Given the description of an element on the screen output the (x, y) to click on. 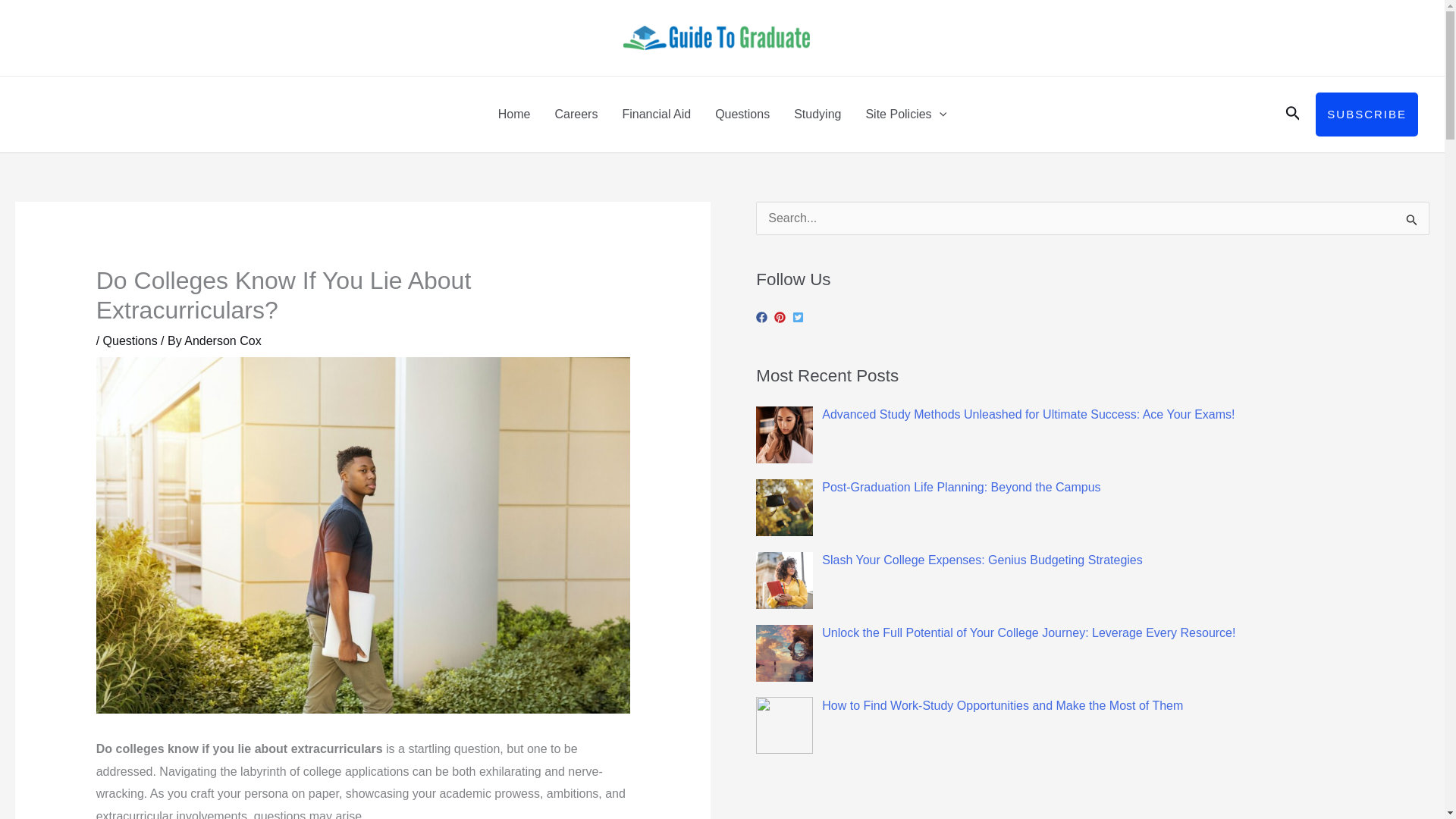
Careers (576, 114)
Anderson Cox (222, 340)
Financial Aid (656, 114)
SUBSCRIBE (1367, 114)
Studying (817, 114)
View all posts by Anderson Cox (222, 340)
Questions (742, 114)
Questions (130, 340)
Site Policies (905, 114)
